Given the description of an element on the screen output the (x, y) to click on. 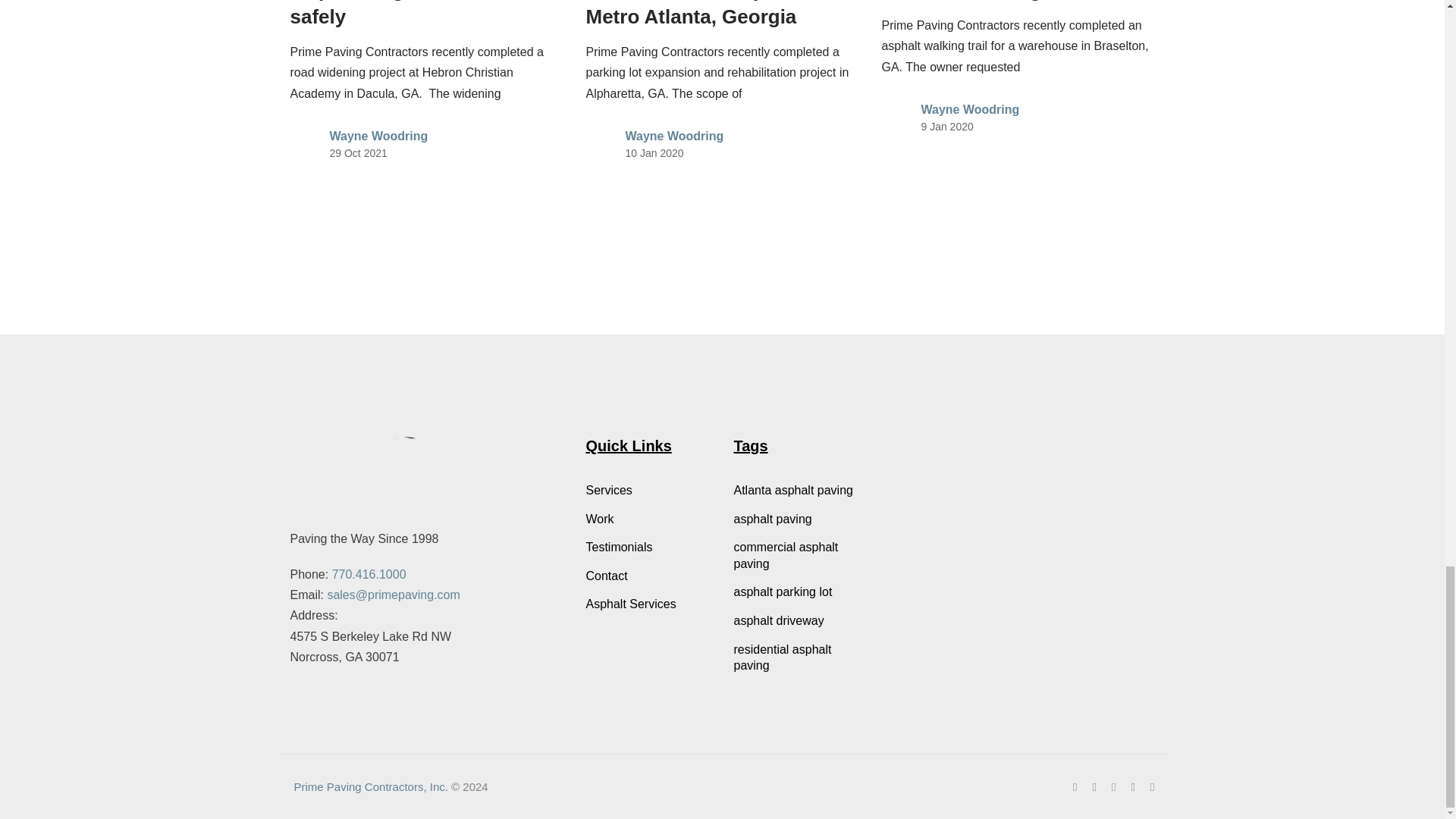
Asphalt Services (647, 604)
Atlanta asphalt paving (796, 490)
Testimonials (647, 547)
Wayne Woodring (673, 135)
Work (647, 519)
asphalt paving (796, 519)
Wayne Woodring (969, 109)
770.416.1000 (368, 574)
Services (647, 490)
Wayne Woodring (378, 135)
commercial asphalt paving (796, 554)
Contact (647, 576)
